Given the description of an element on the screen output the (x, y) to click on. 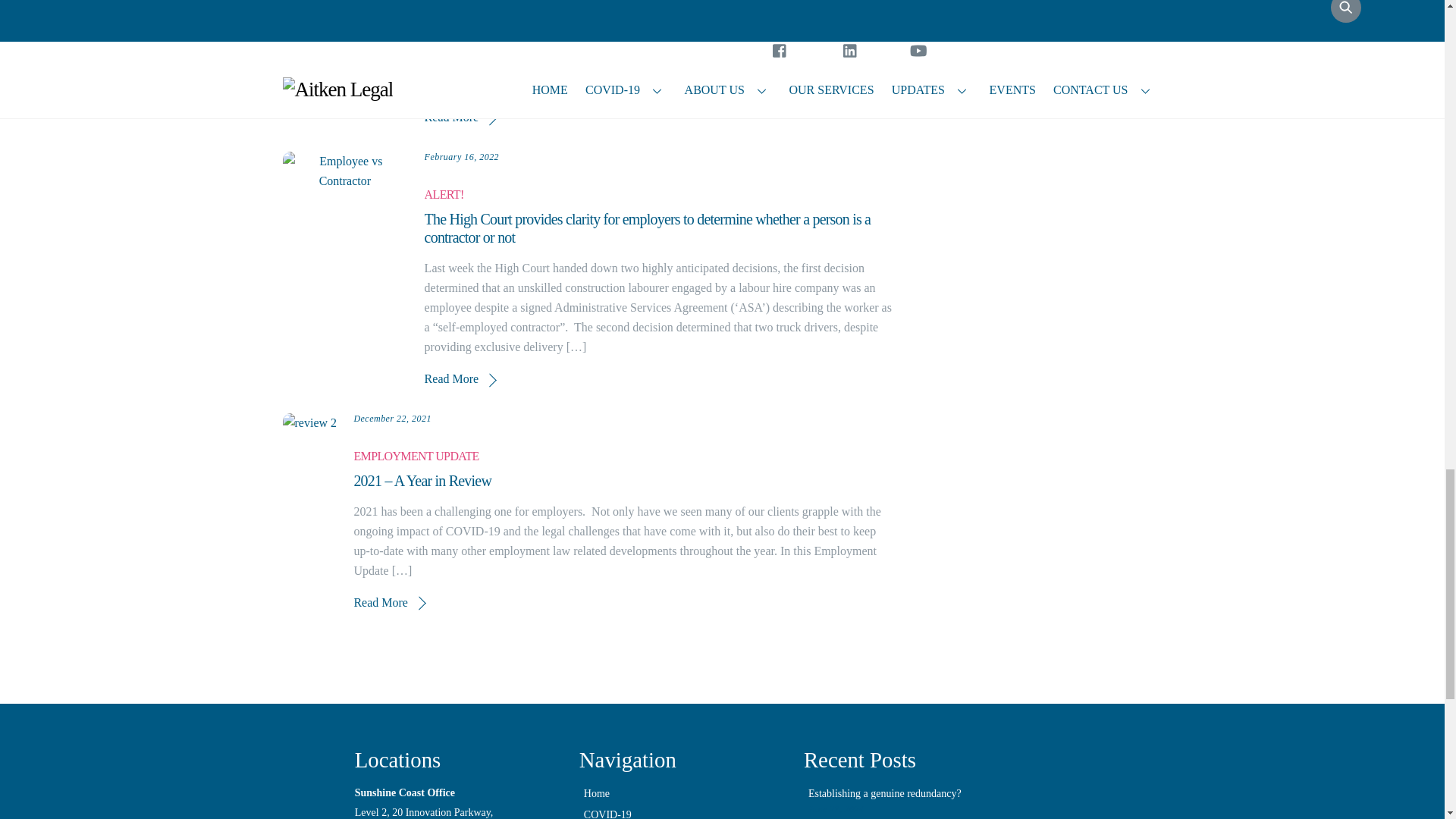
Employee vs Contractor (344, 170)
review 2 (309, 423)
Read More (460, 116)
